Given the description of an element on the screen output the (x, y) to click on. 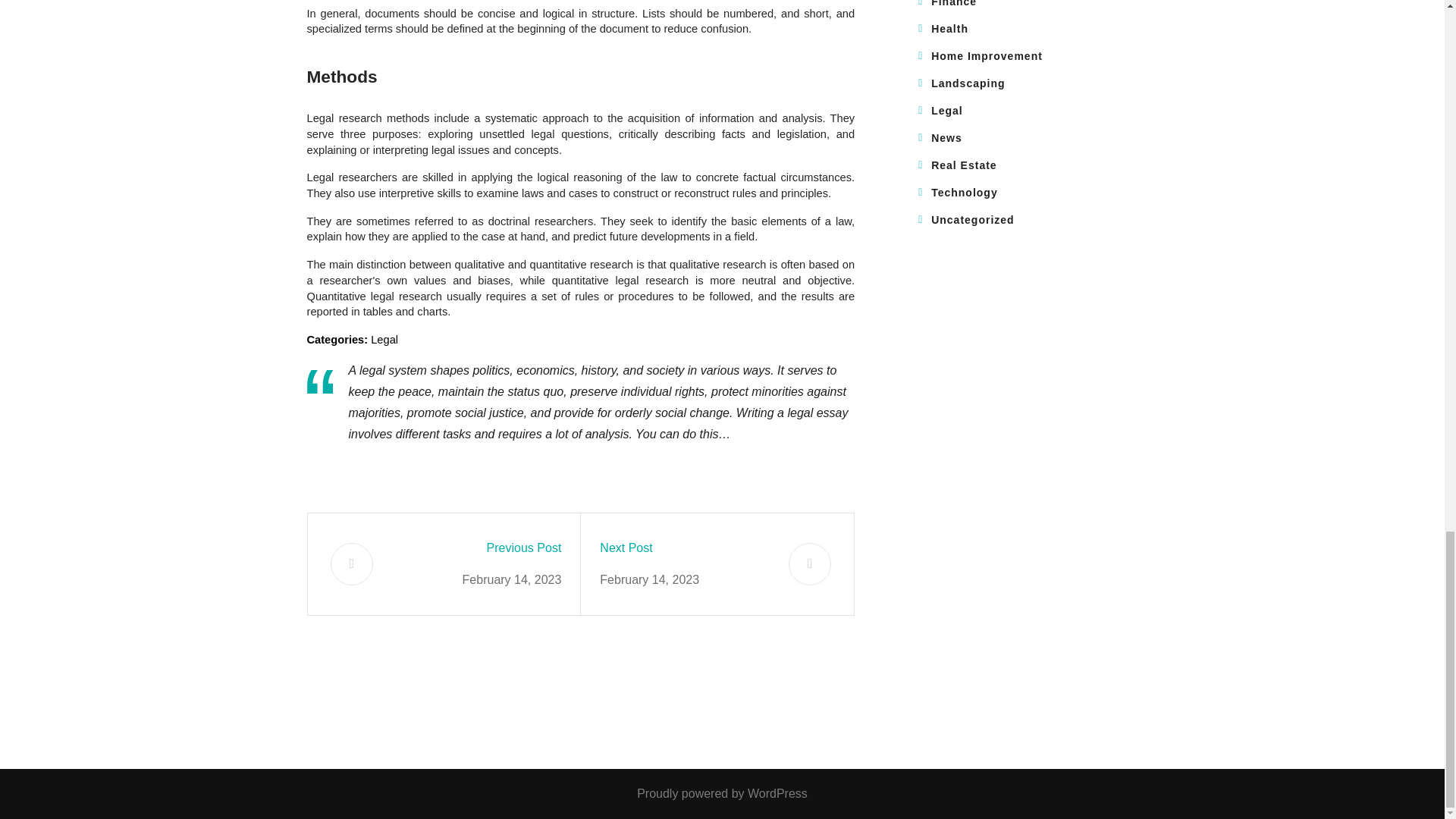
February 14, 2023 (648, 579)
February 14, 2023 (512, 579)
